Given the description of an element on the screen output the (x, y) to click on. 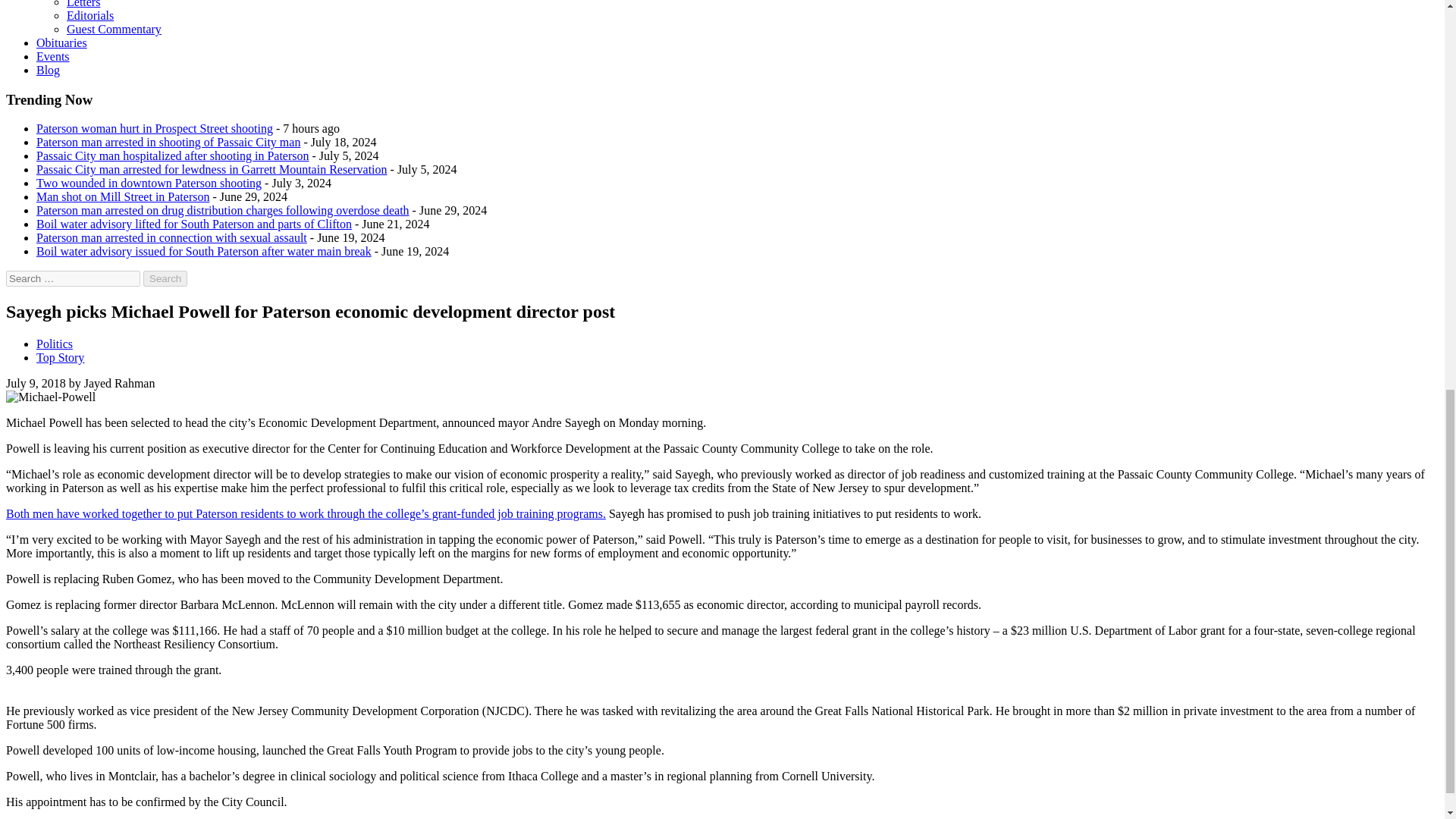
Search (164, 278)
